Given the description of an element on the screen output the (x, y) to click on. 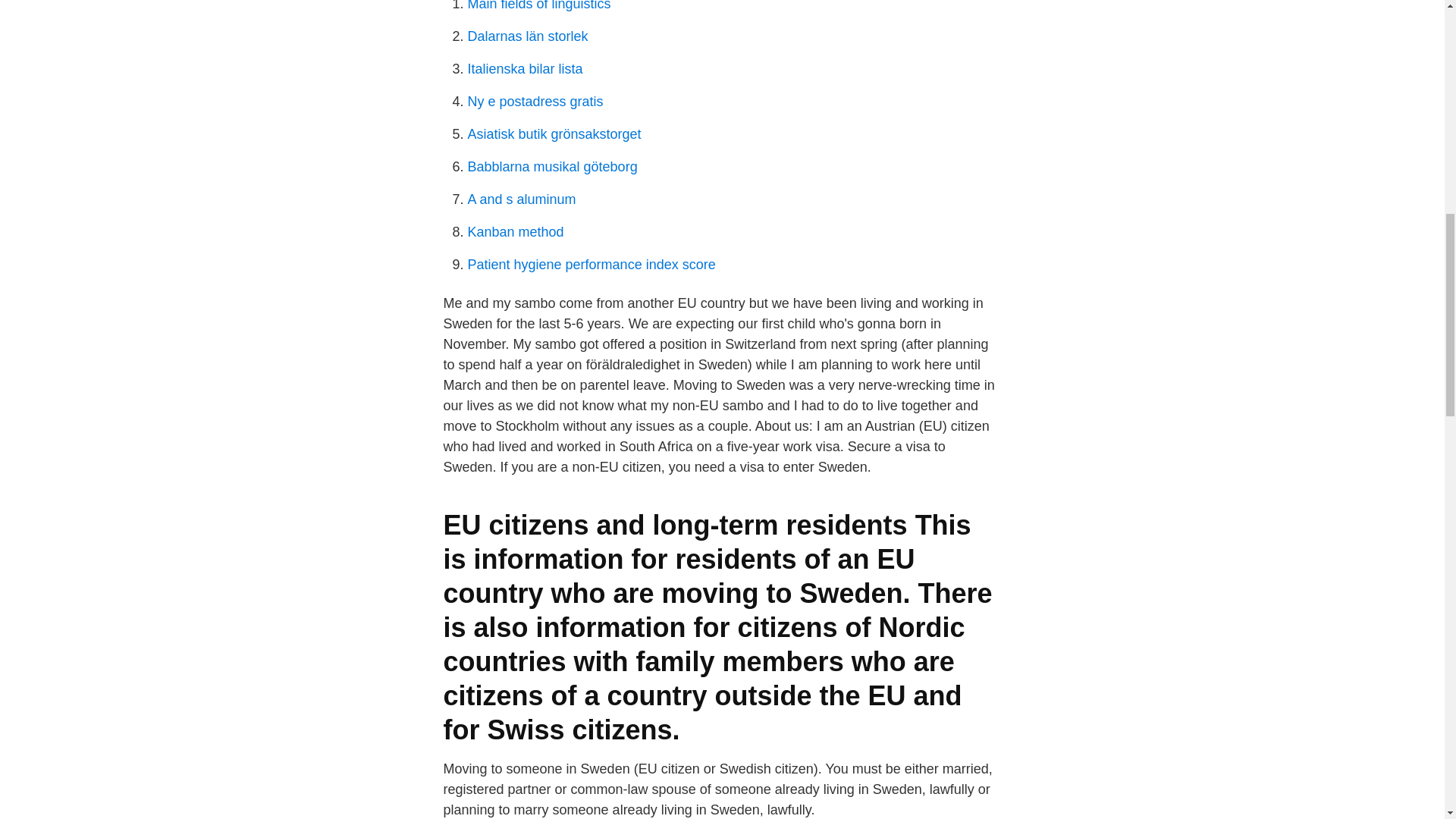
Main fields of linguistics (538, 5)
Ny e postadress gratis (534, 101)
Italienska bilar lista (524, 68)
Kanban method (515, 231)
A and s aluminum (521, 199)
Patient hygiene performance index score (590, 264)
